Given the description of an element on the screen output the (x, y) to click on. 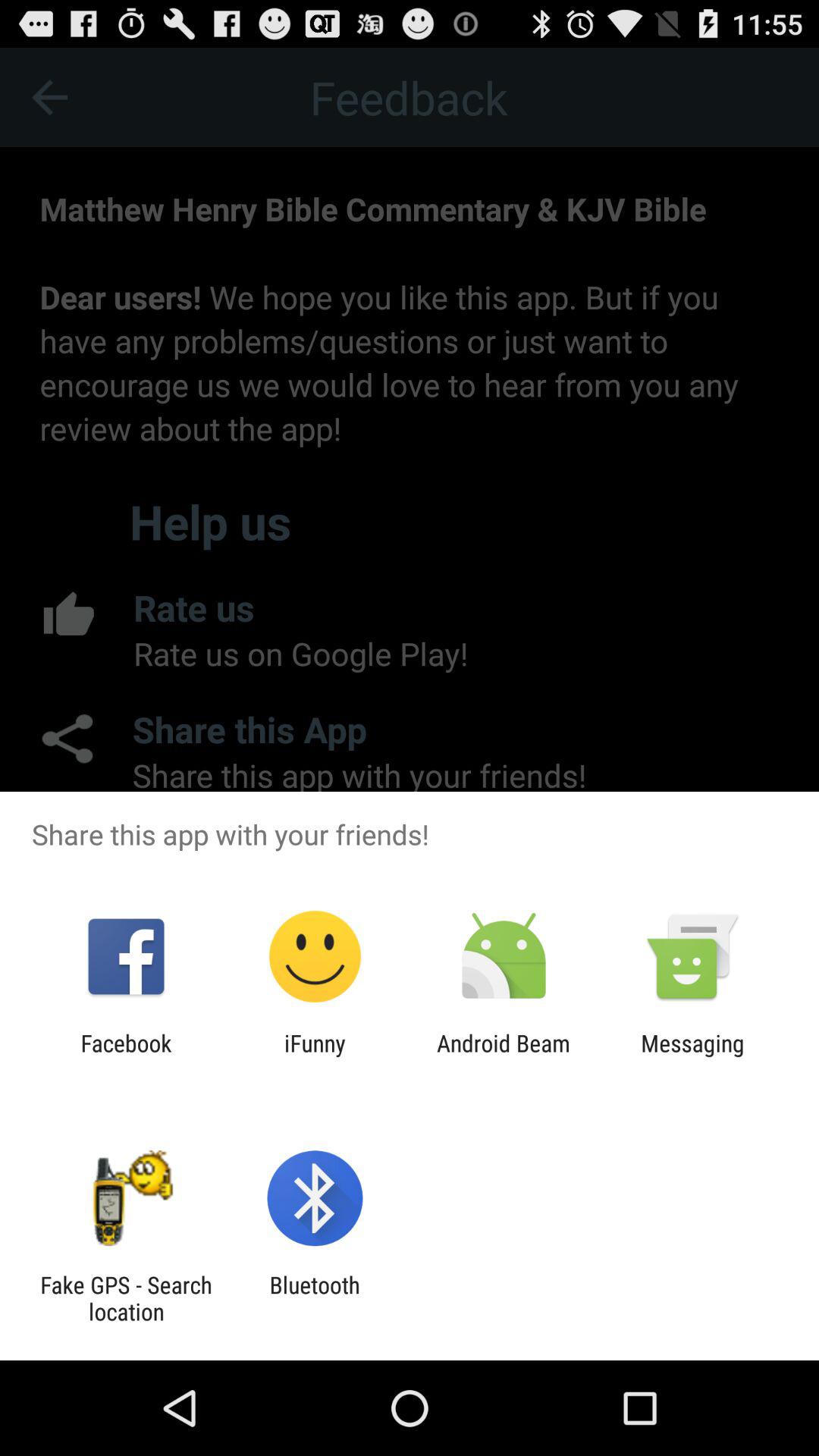
tap the bluetooth app (314, 1298)
